Given the description of an element on the screen output the (x, y) to click on. 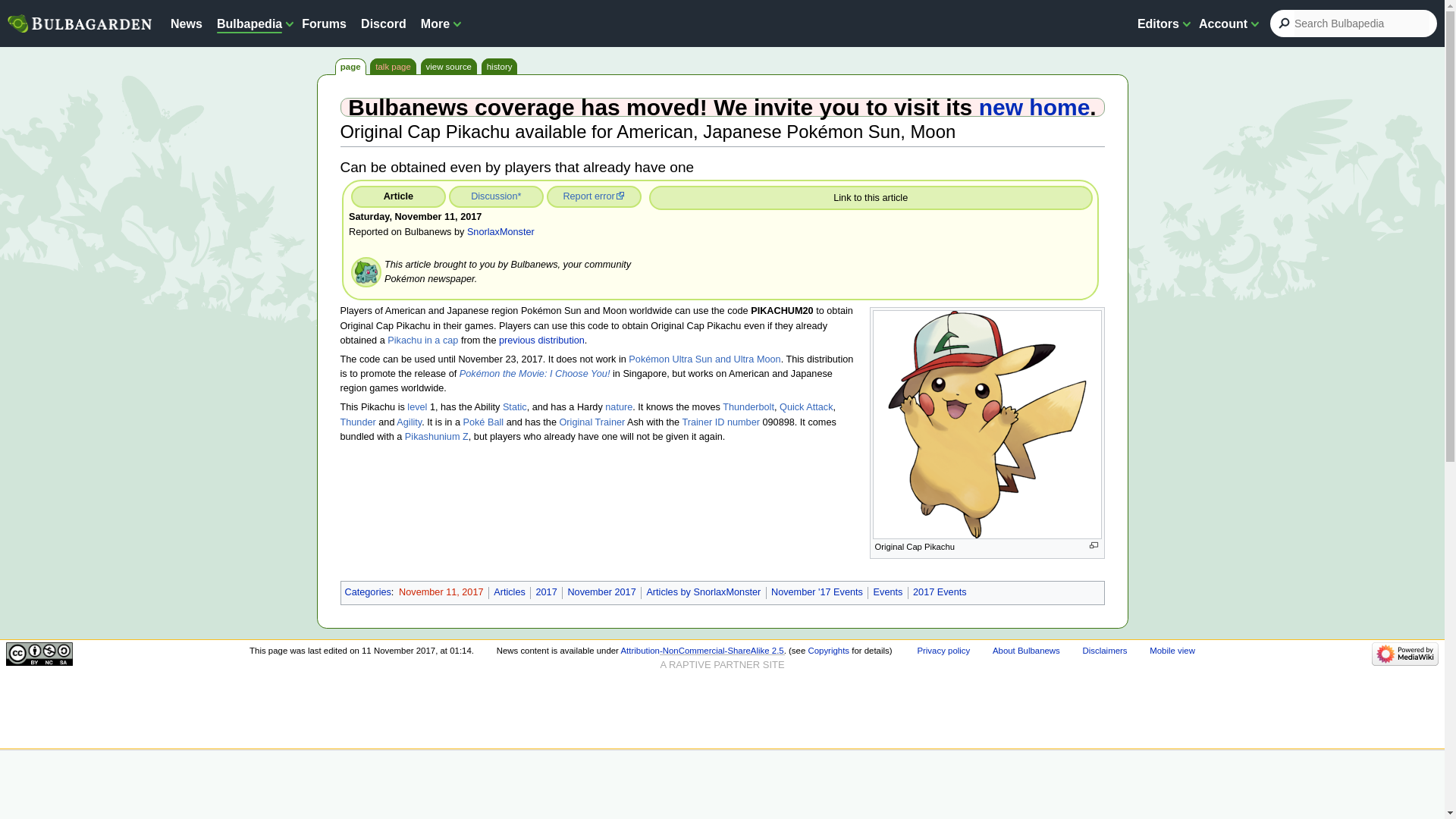
User:SnorlaxMonster (500, 231)
bp:Pikachu in a cap (422, 339)
bp:nature (618, 407)
No specific discussion thread named (518, 195)
bp:Original Trainer (591, 421)
News (186, 22)
Bulbapedia (249, 22)
bp:M20 (535, 373)
Enlarge (1093, 545)
bp:level (416, 407)
